Given the description of an element on the screen output the (x, y) to click on. 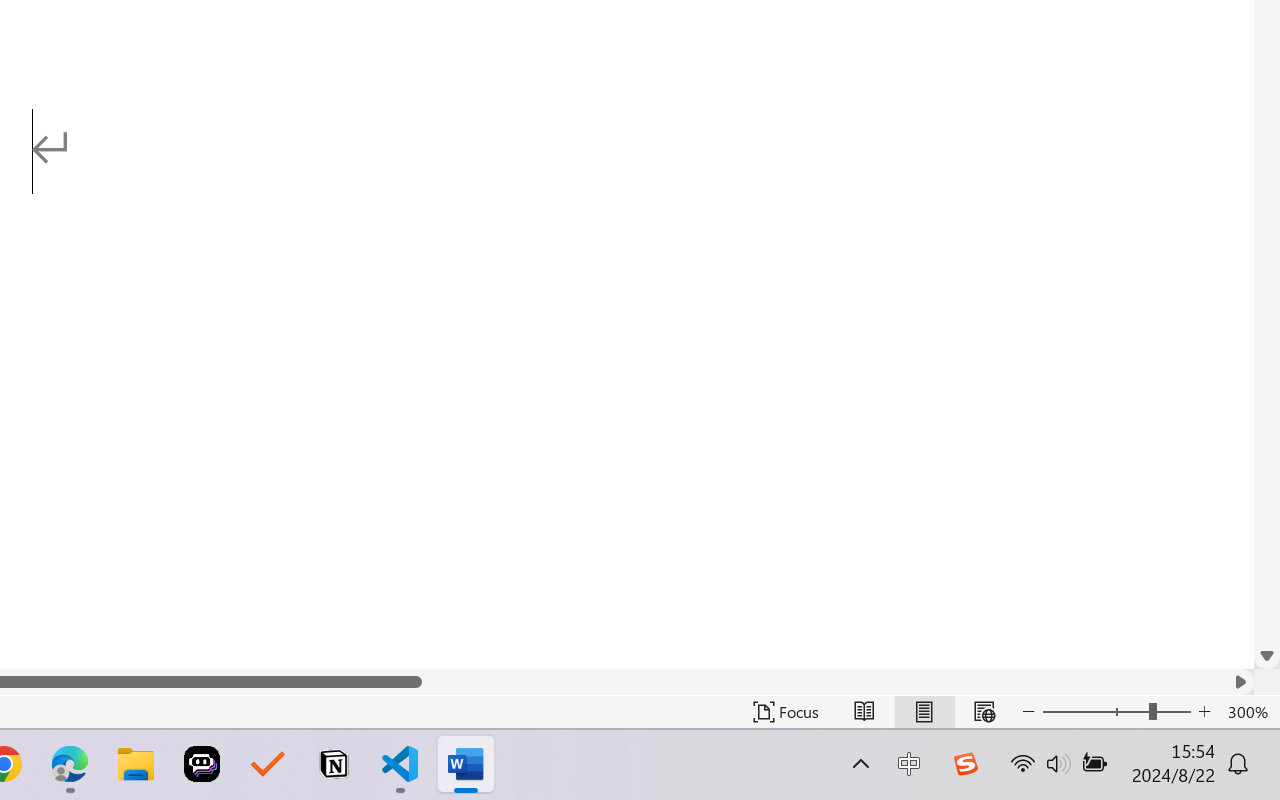
Zoom 110% (1234, 743)
